Given the description of an element on the screen output the (x, y) to click on. 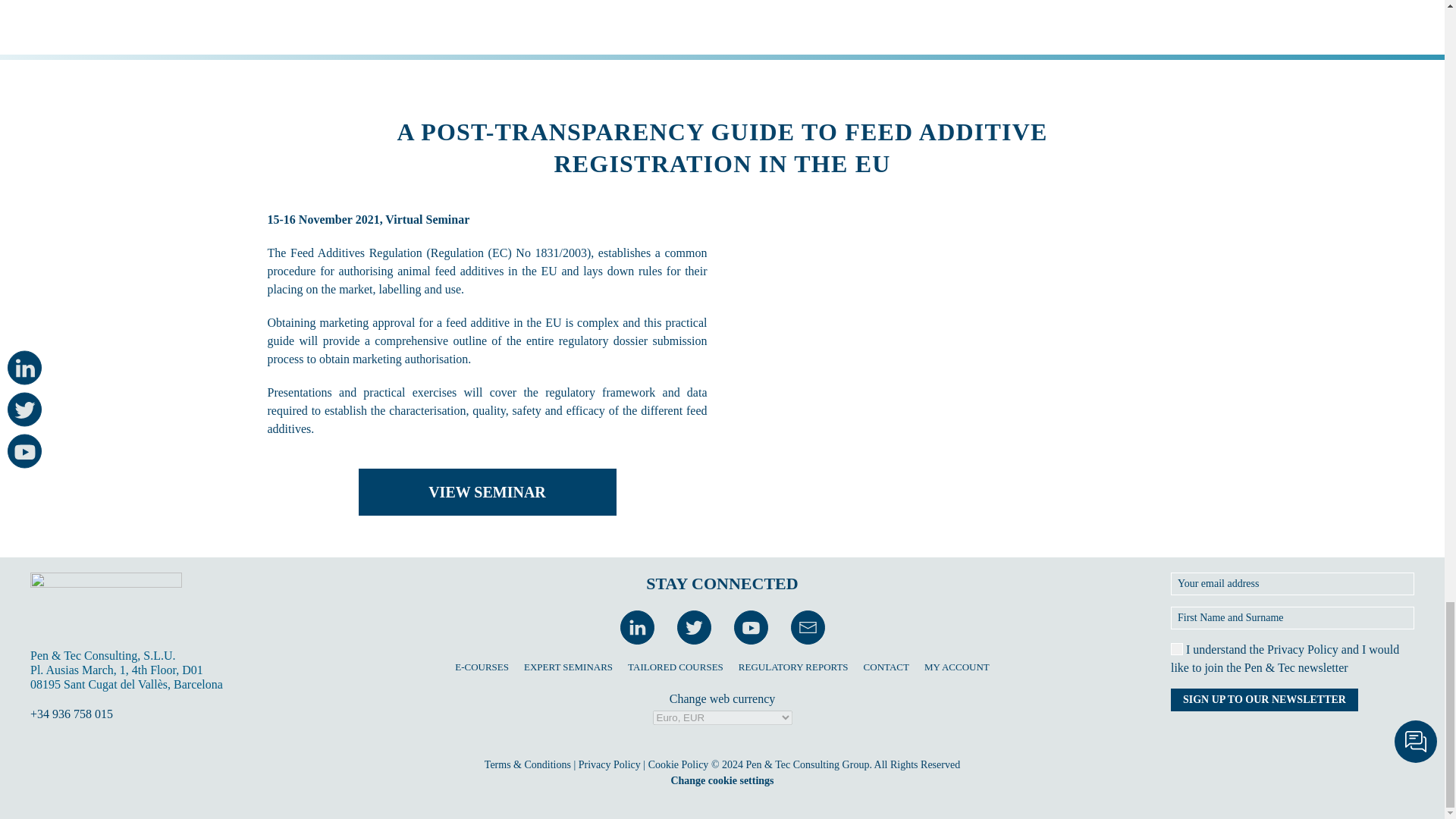
TAILORED COURSES (675, 667)
Sign up to our newsletter (1264, 699)
REGULATORY REPORTS (793, 667)
CONTACT (885, 667)
Privacy Policy (609, 764)
VIEW SEMINAR (486, 491)
EXPERT SEMINARS (568, 667)
Privacy Policy (1302, 649)
Sign up to our newsletter (1264, 699)
1 (1176, 648)
E-COURSES (481, 667)
MY ACCOUNT (957, 667)
